Given the description of an element on the screen output the (x, y) to click on. 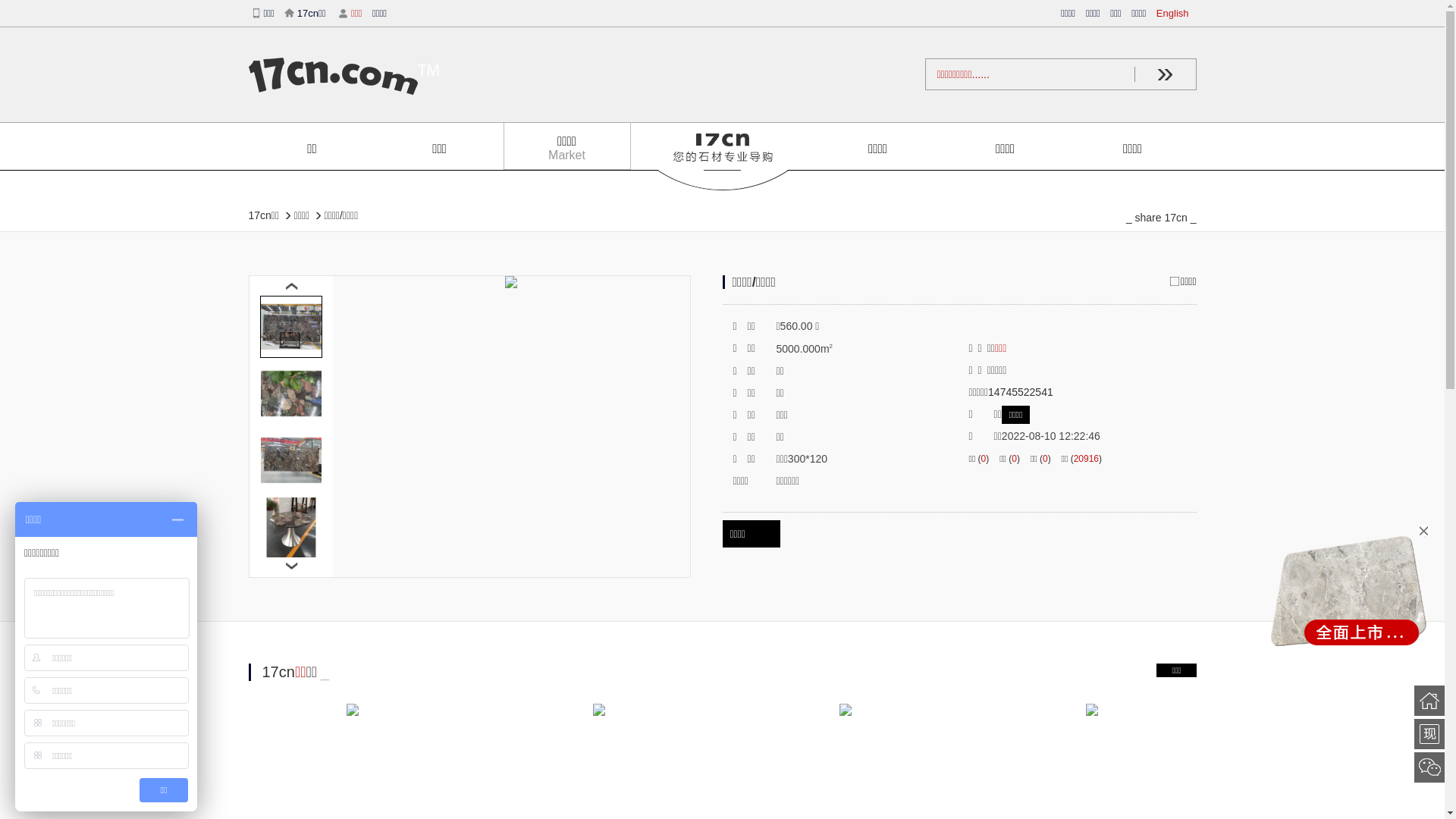
English Element type: text (1176, 12)
_ share 17cn _ Element type: text (1154, 215)
14745522541 Element type: text (1020, 391)
